Given the description of an element on the screen output the (x, y) to click on. 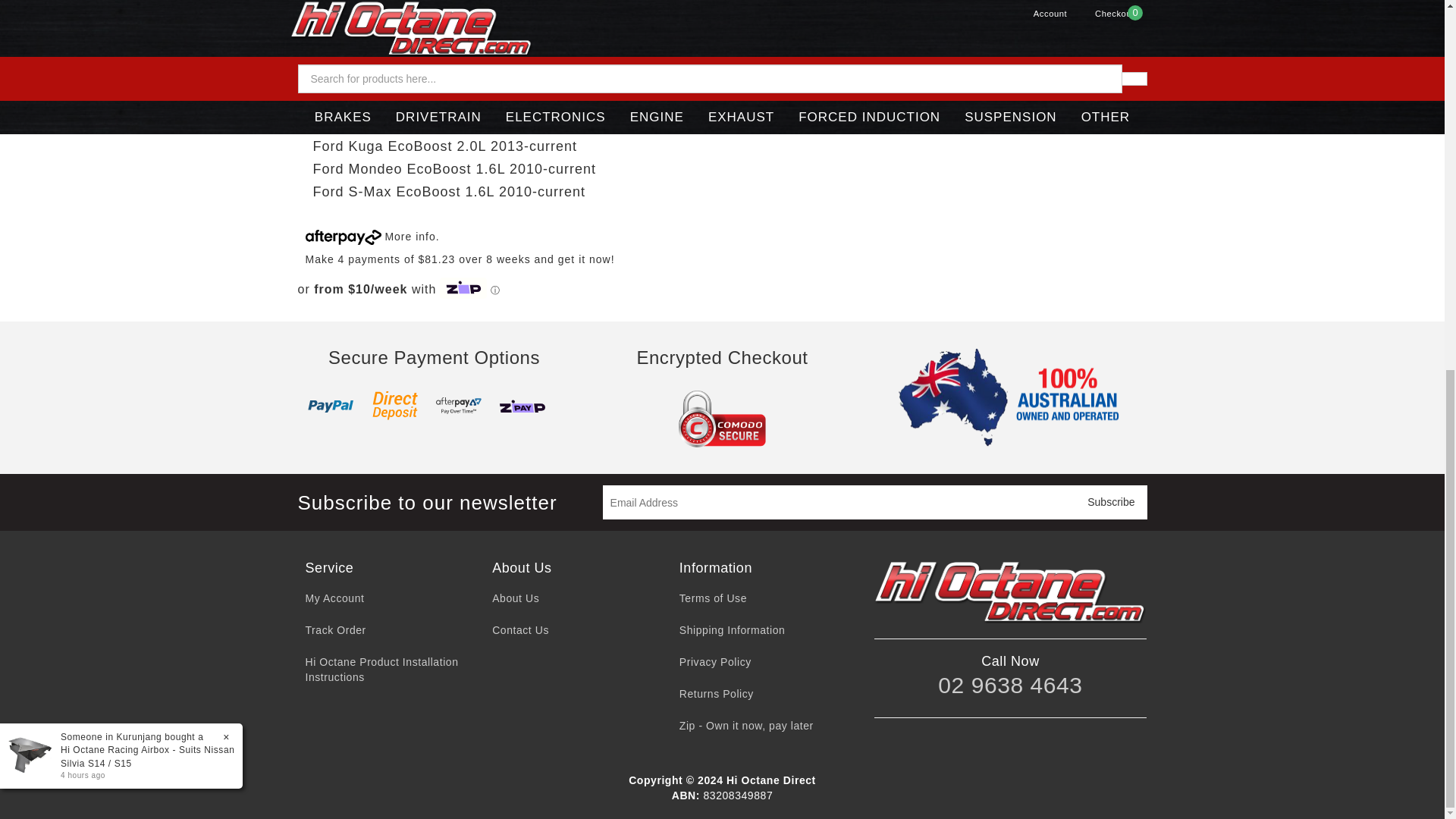
Subscribe (1111, 502)
